Given the description of an element on the screen output the (x, y) to click on. 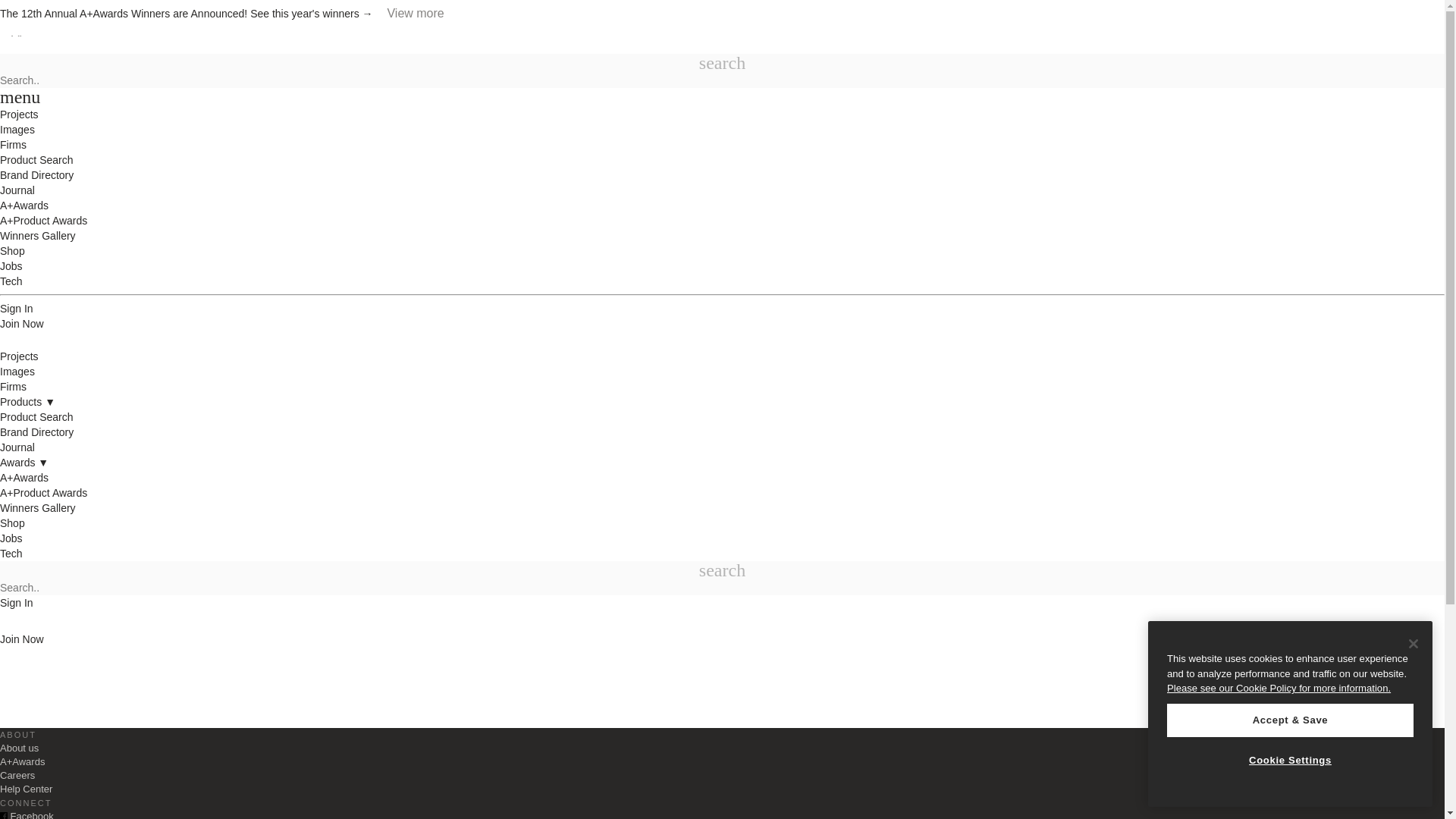
Shop (12, 522)
Architizer (27, 337)
Help Center (26, 788)
Facebook icon (3, 815)
Careers (17, 775)
Tech (11, 553)
Winners Gallery (37, 508)
Jobs (11, 538)
Projects (19, 356)
Images (17, 371)
Firms (13, 386)
Facebook (26, 814)
About us (19, 747)
Brand Directory (37, 431)
Journal (17, 447)
